Given the description of an element on the screen output the (x, y) to click on. 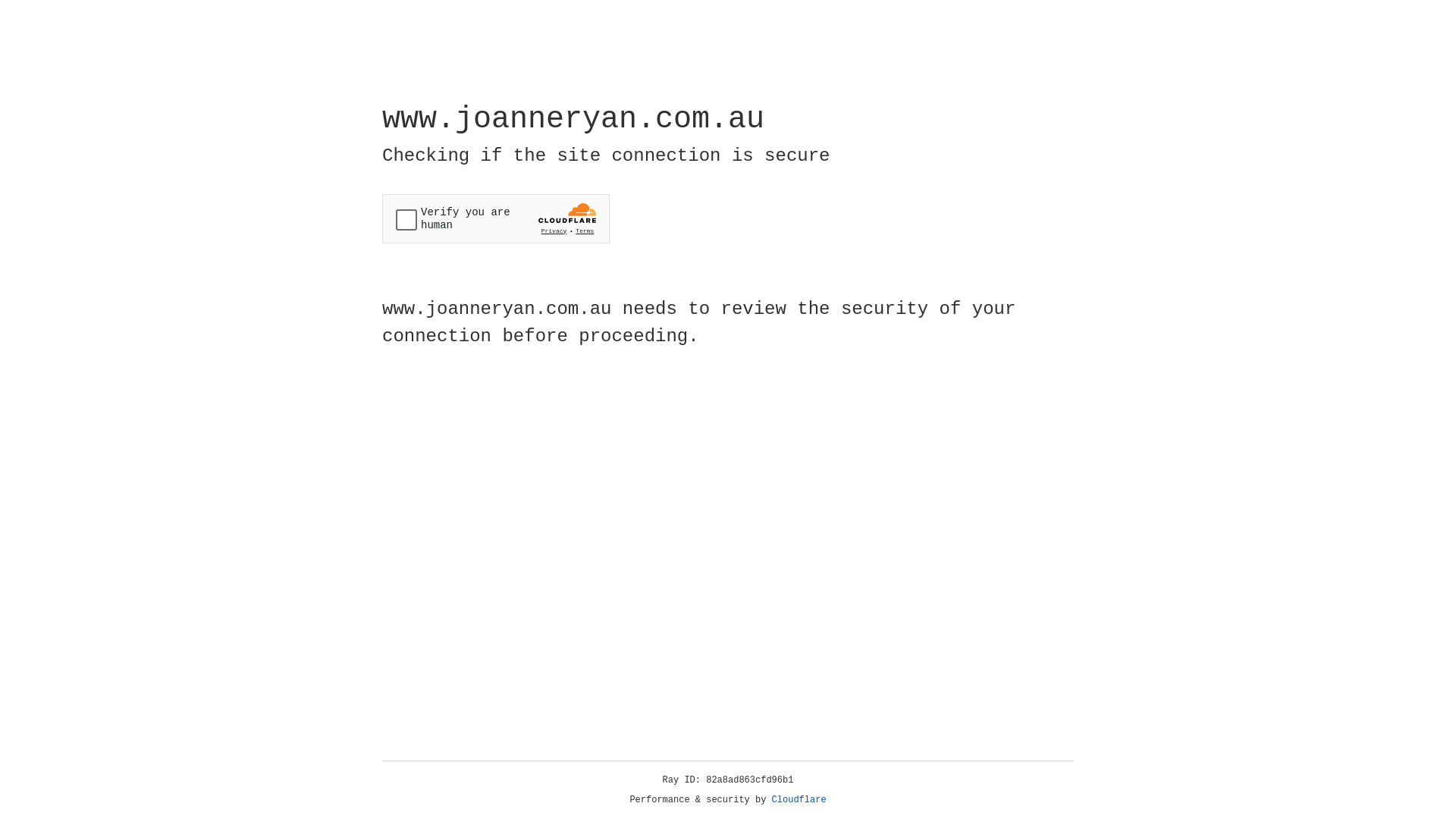
Cloudflare Element type: text (798, 799)
Widget containing a Cloudflare security challenge Element type: hover (495, 218)
